Given the description of an element on the screen output the (x, y) to click on. 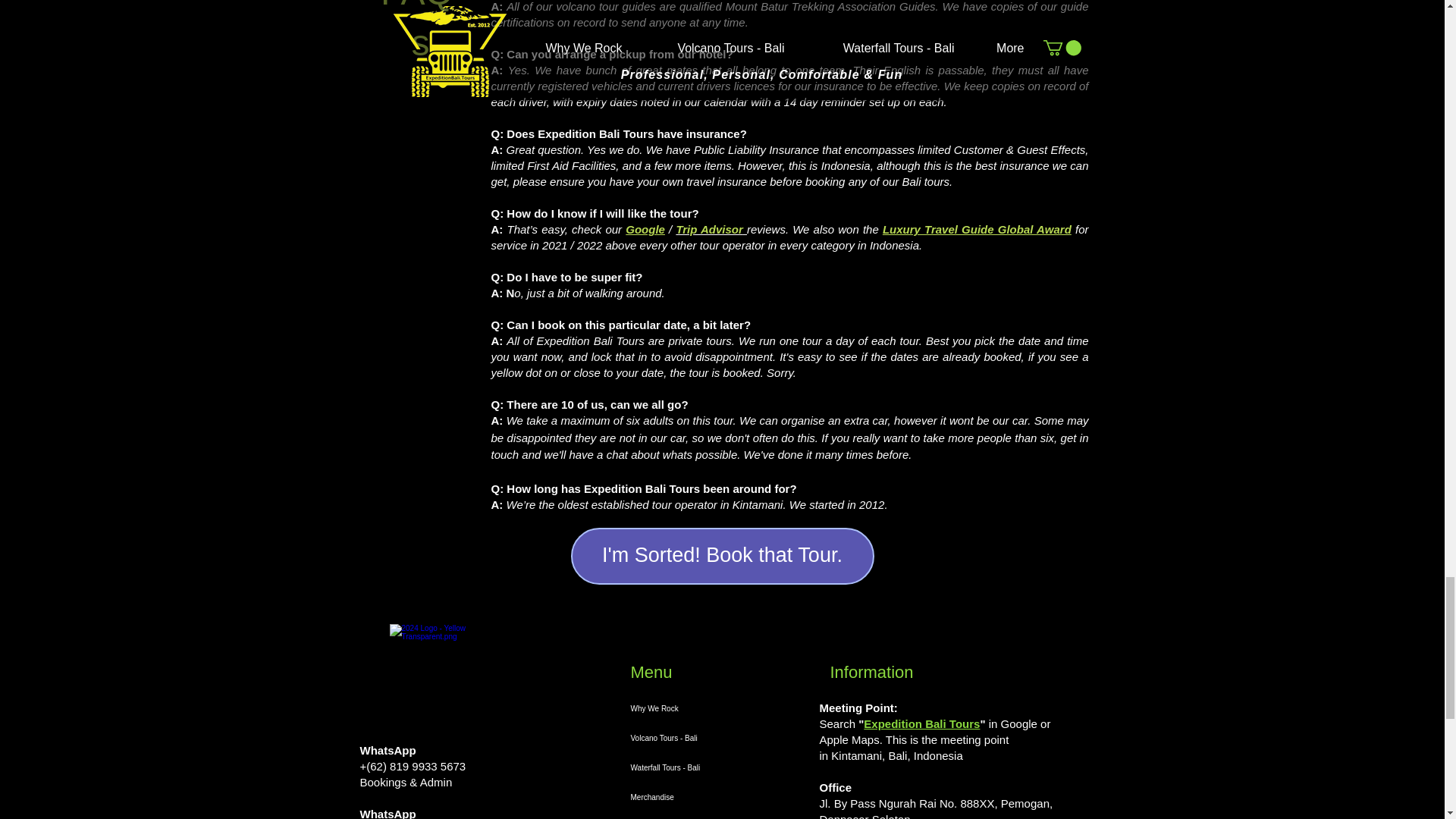
Volcano Tours - Bali (694, 737)
Merchandise (694, 797)
Expedition Bali Tours (921, 723)
Luxury Travel Guide Global Award (976, 228)
Why We Rock (694, 708)
Google (645, 228)
Blog (694, 815)
Waterfall Tours - Bali (694, 767)
I'm Sorted! Book that Tour. (721, 555)
Trip Advisor (710, 228)
